Given the description of an element on the screen output the (x, y) to click on. 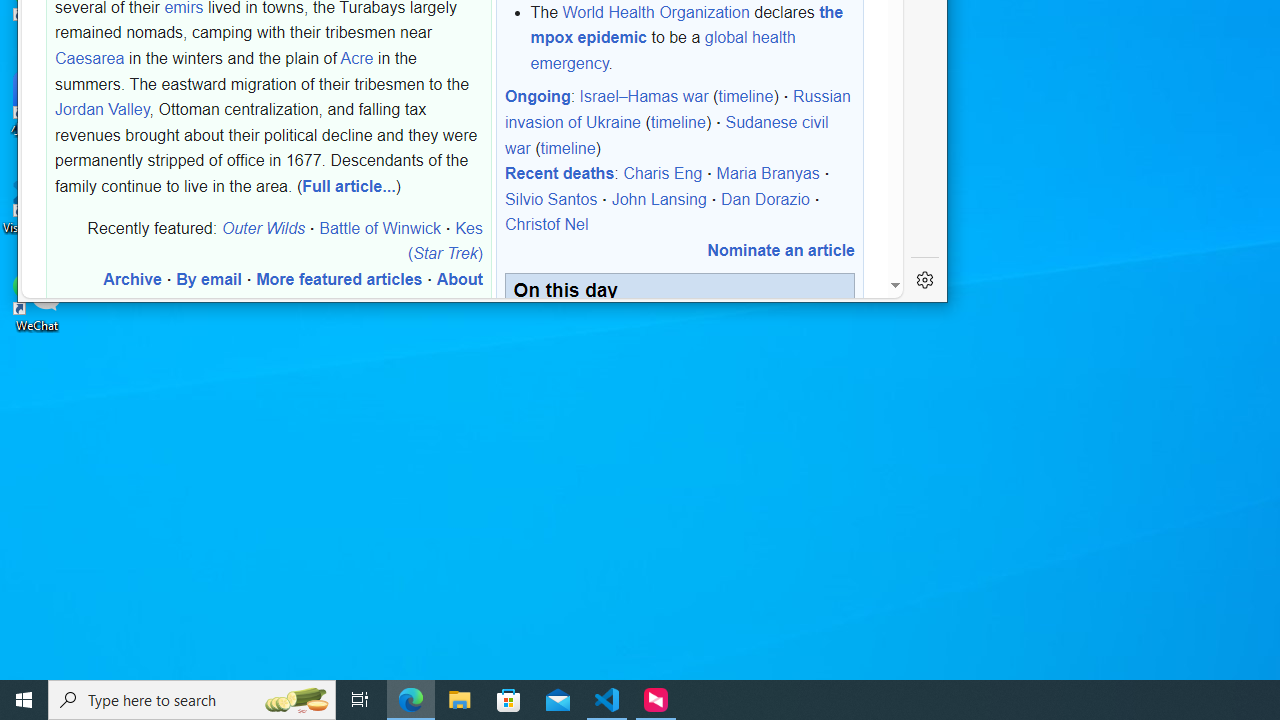
Type here to search (191, 699)
Visual Studio Code - 1 running window (607, 699)
Microsoft Edge - 1 running window (411, 699)
Search highlights icon opens search home window (295, 699)
Microsoft Store (509, 699)
Task View (359, 699)
File Explorer (460, 699)
Start (24, 699)
